Given the description of an element on the screen output the (x, y) to click on. 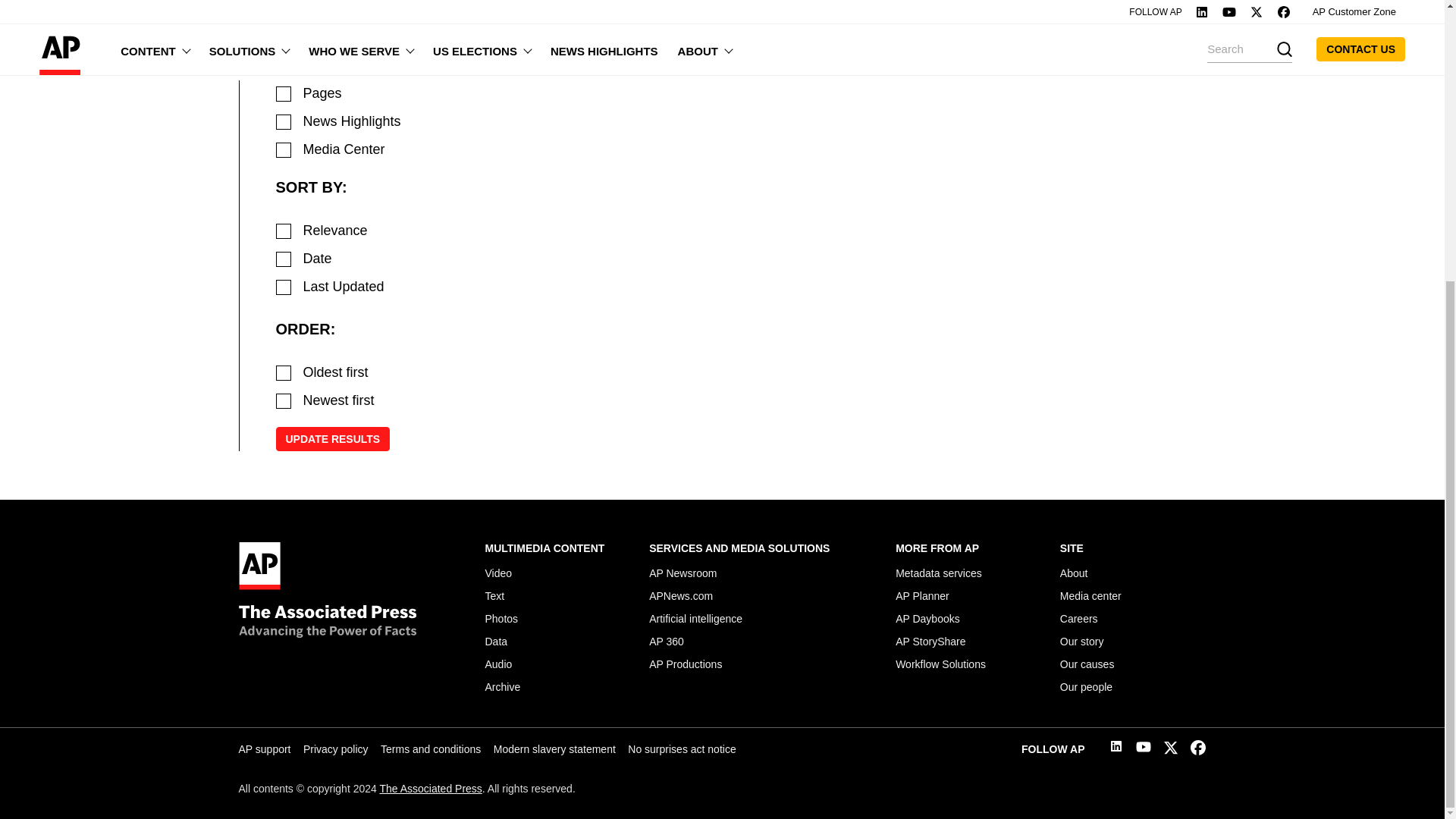
Youtube (1143, 748)
desc (283, 400)
page (283, 93)
Facebook (1198, 750)
date (283, 258)
asc (283, 372)
Twitter (1170, 750)
ap-blog (283, 150)
post (283, 121)
Linkedin (1116, 748)
